Given the description of an element on the screen output the (x, y) to click on. 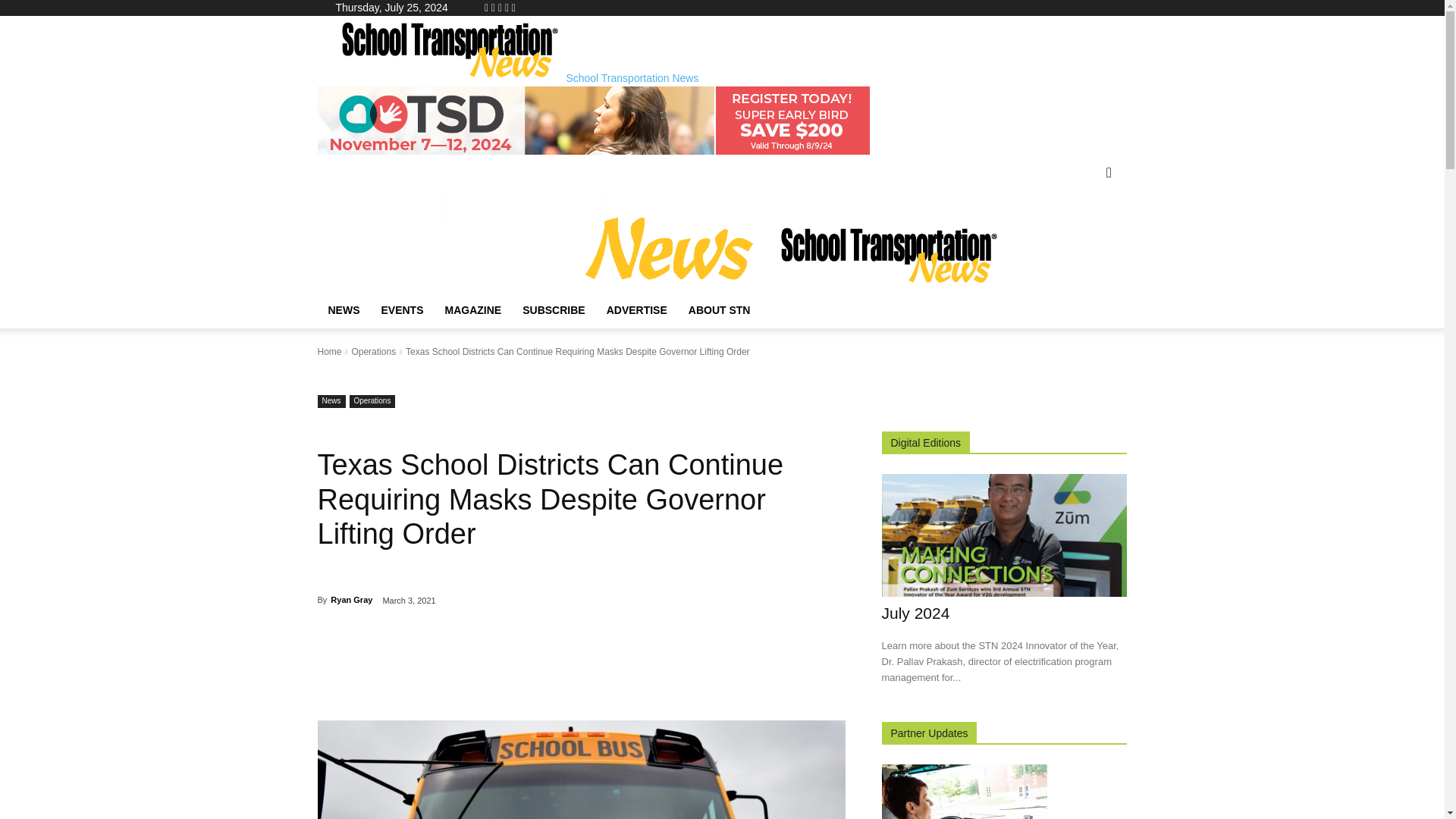
View all posts in Operations (373, 351)
